Given the description of an element on the screen output the (x, y) to click on. 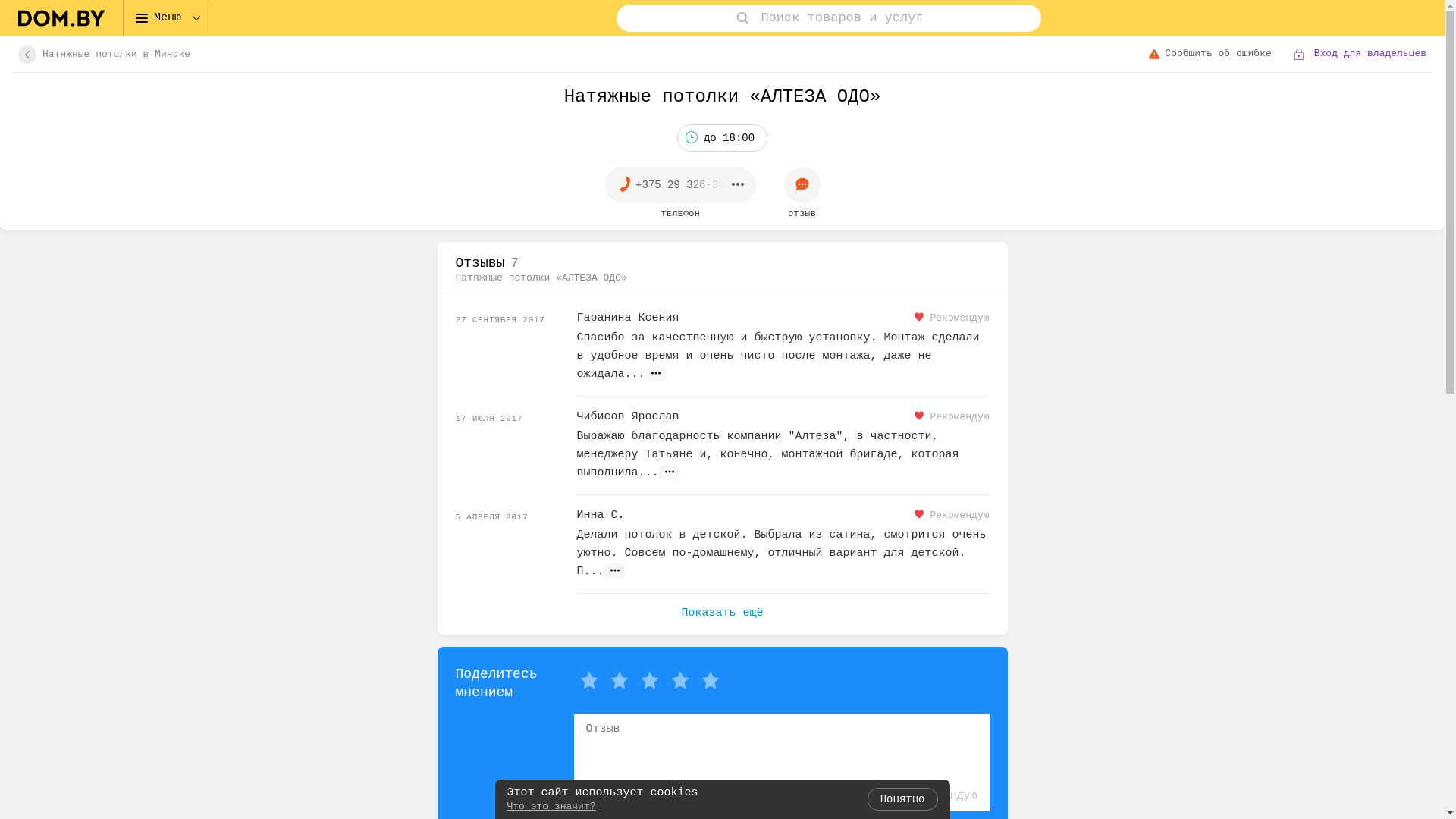
logo Element type: hover (61, 18)
